Given the description of an element on the screen output the (x, y) to click on. 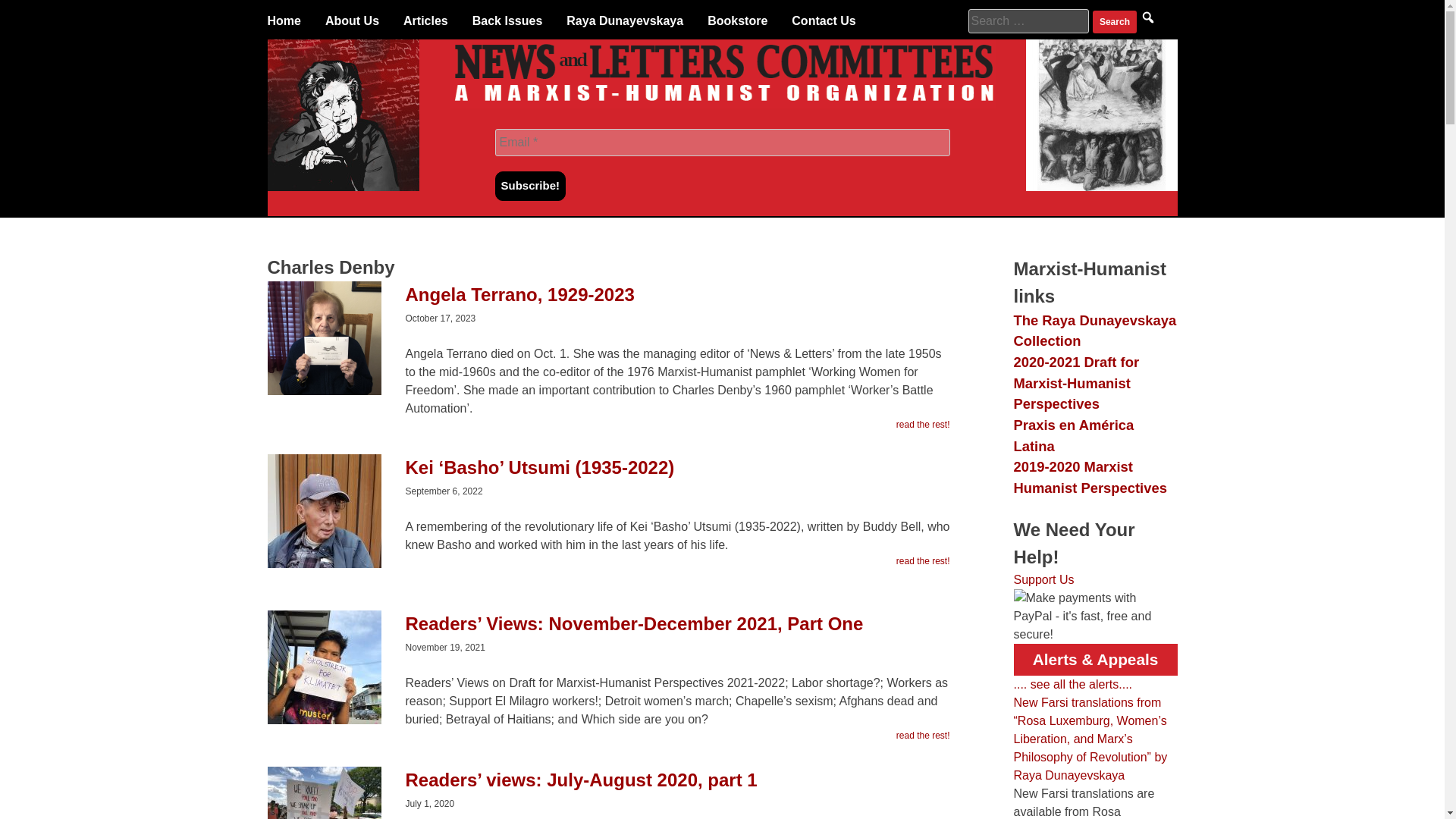
About Us (351, 21)
Angela Terrano, 1929-2023 (607, 302)
read the rest! (923, 424)
Search (1115, 21)
Email (722, 142)
Search (1115, 21)
News and Letters Committees (722, 103)
read the rest! (923, 735)
Raya Dunayevskaya (624, 21)
read the rest! (923, 561)
